Given the description of an element on the screen output the (x, y) to click on. 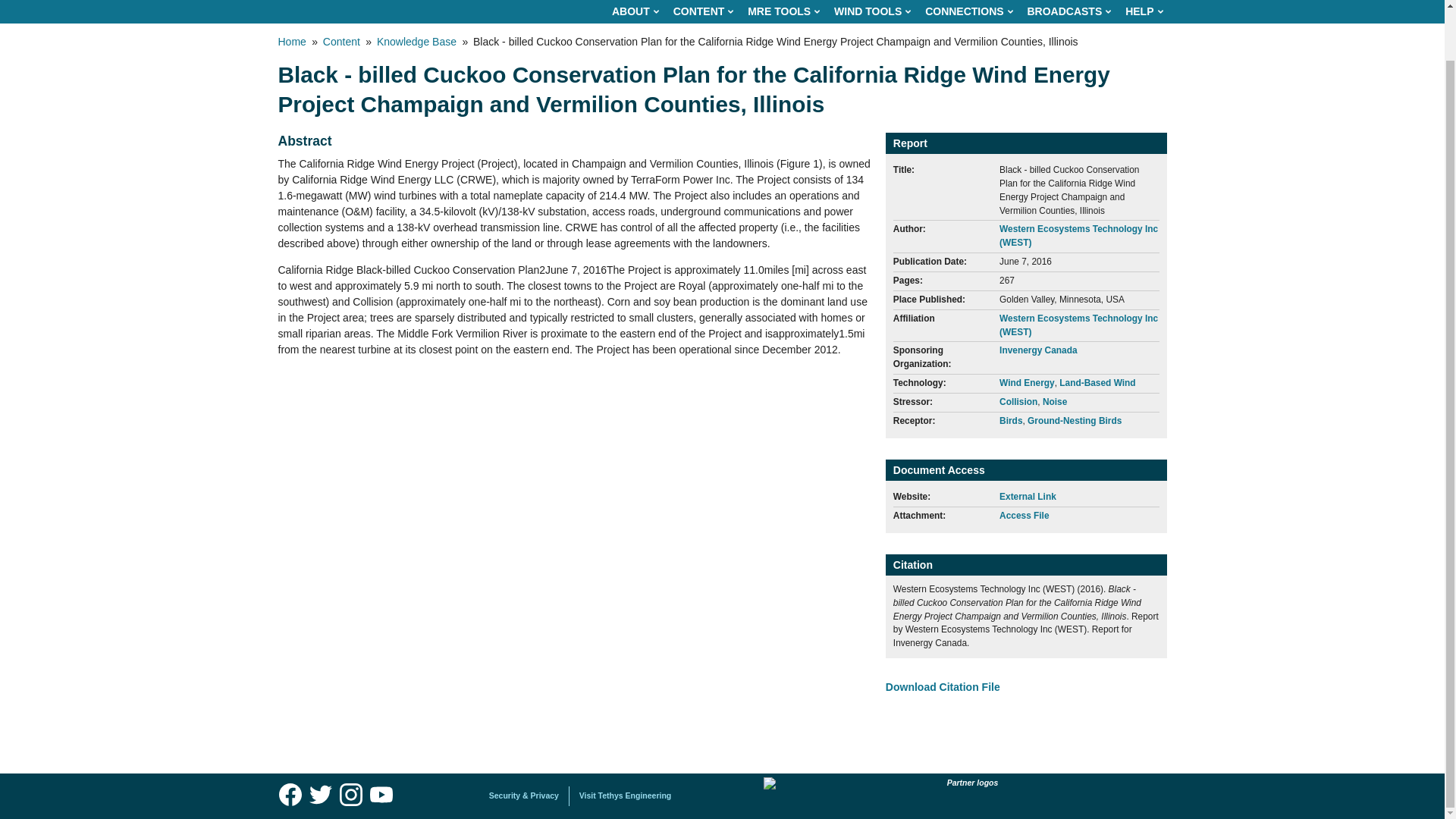
BROADCASTS (1068, 11)
Search (1148, 10)
MRE TOOLS (783, 11)
Search (1148, 10)
HELP (1143, 11)
CONNECTIONS (967, 11)
ABOUT (635, 11)
WIND TOOLS (872, 11)
CONTENT (702, 11)
